Given the description of an element on the screen output the (x, y) to click on. 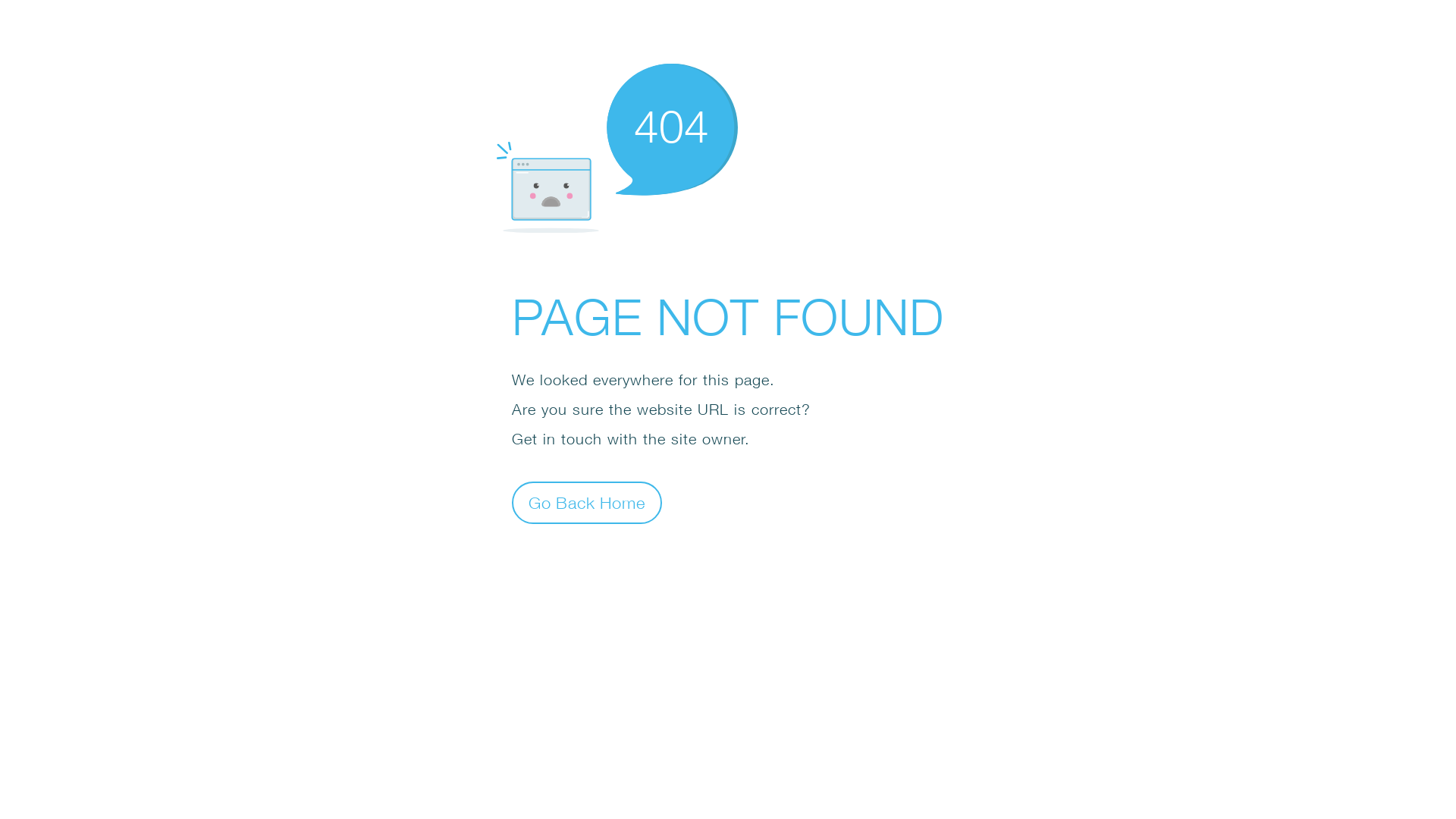
Go Back Home Element type: text (586, 502)
